Given the description of an element on the screen output the (x, y) to click on. 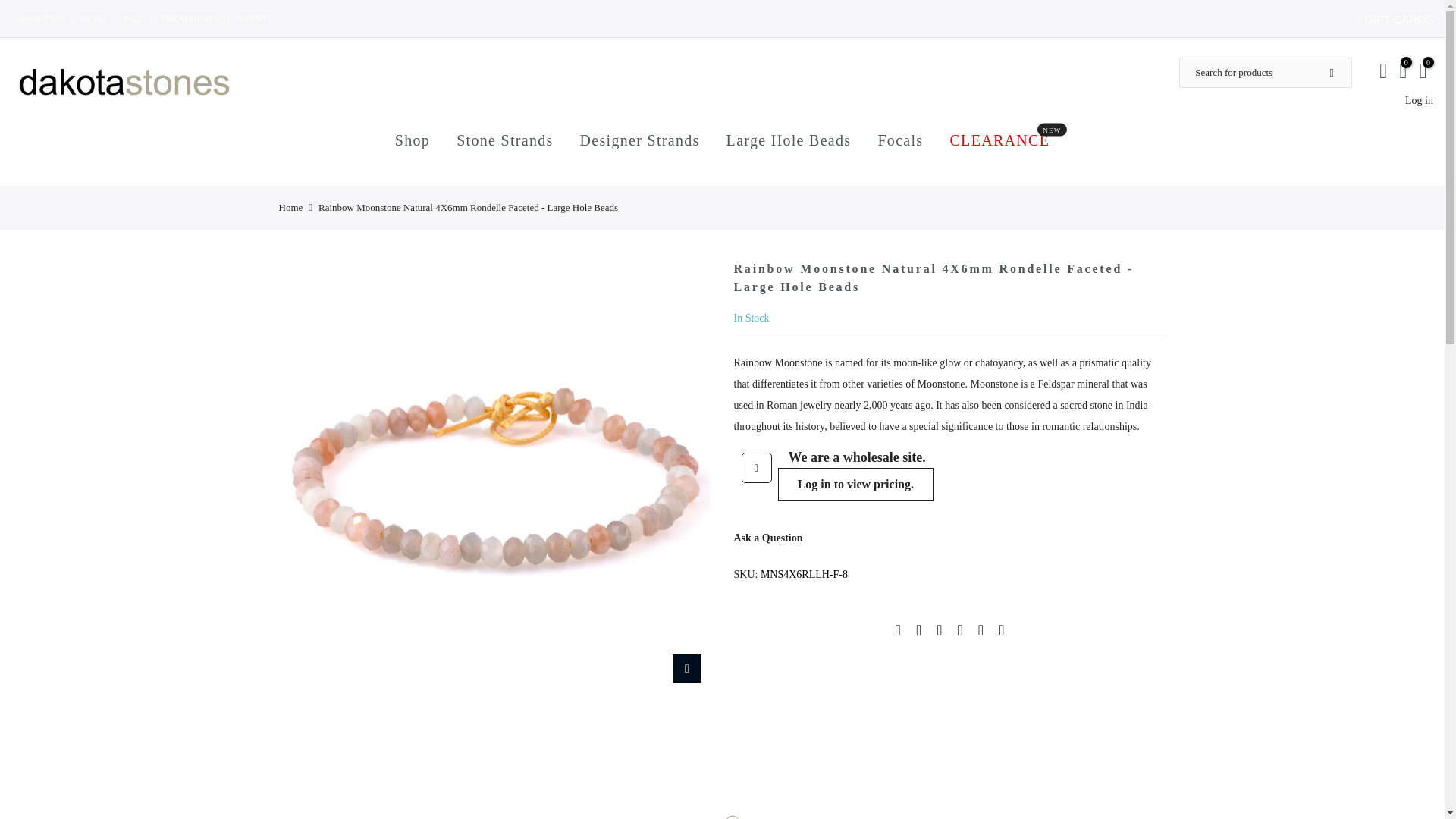
Large Hole Beads (788, 140)
Home (290, 207)
FAQ (132, 18)
GIFT CARDS (1396, 19)
Stone Strands (505, 140)
TREATMENTS (189, 18)
Log in (1418, 100)
EVENTS (999, 140)
Log in to view pricing. (255, 18)
